Given the description of an element on the screen output the (x, y) to click on. 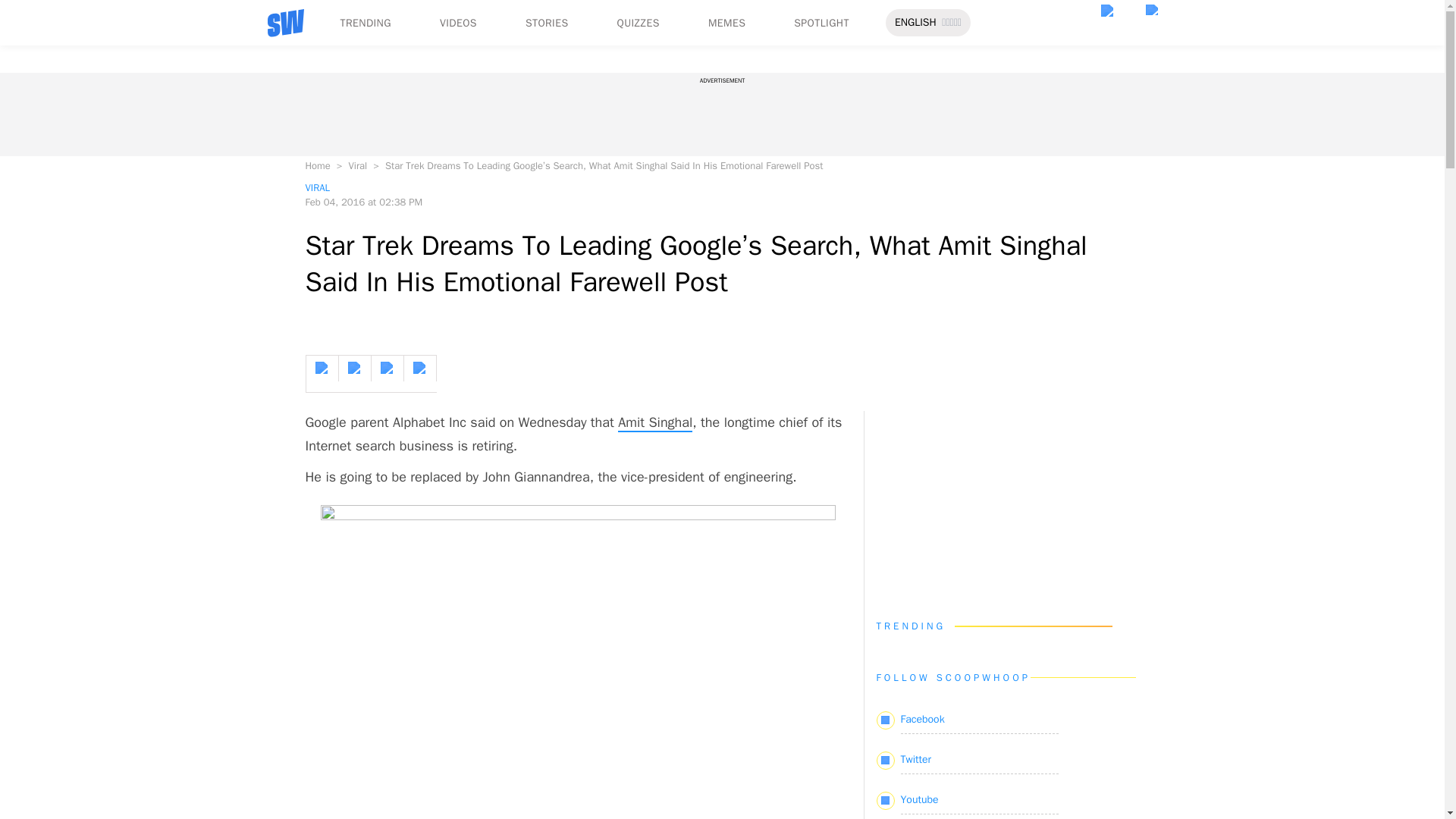
VIDEOS (458, 22)
MEMES (726, 22)
SPOTLIGHT (820, 22)
TRENDING (364, 22)
STORIES (547, 22)
ENGLISH (915, 22)
QUIZZES (638, 22)
